Given the description of an element on the screen output the (x, y) to click on. 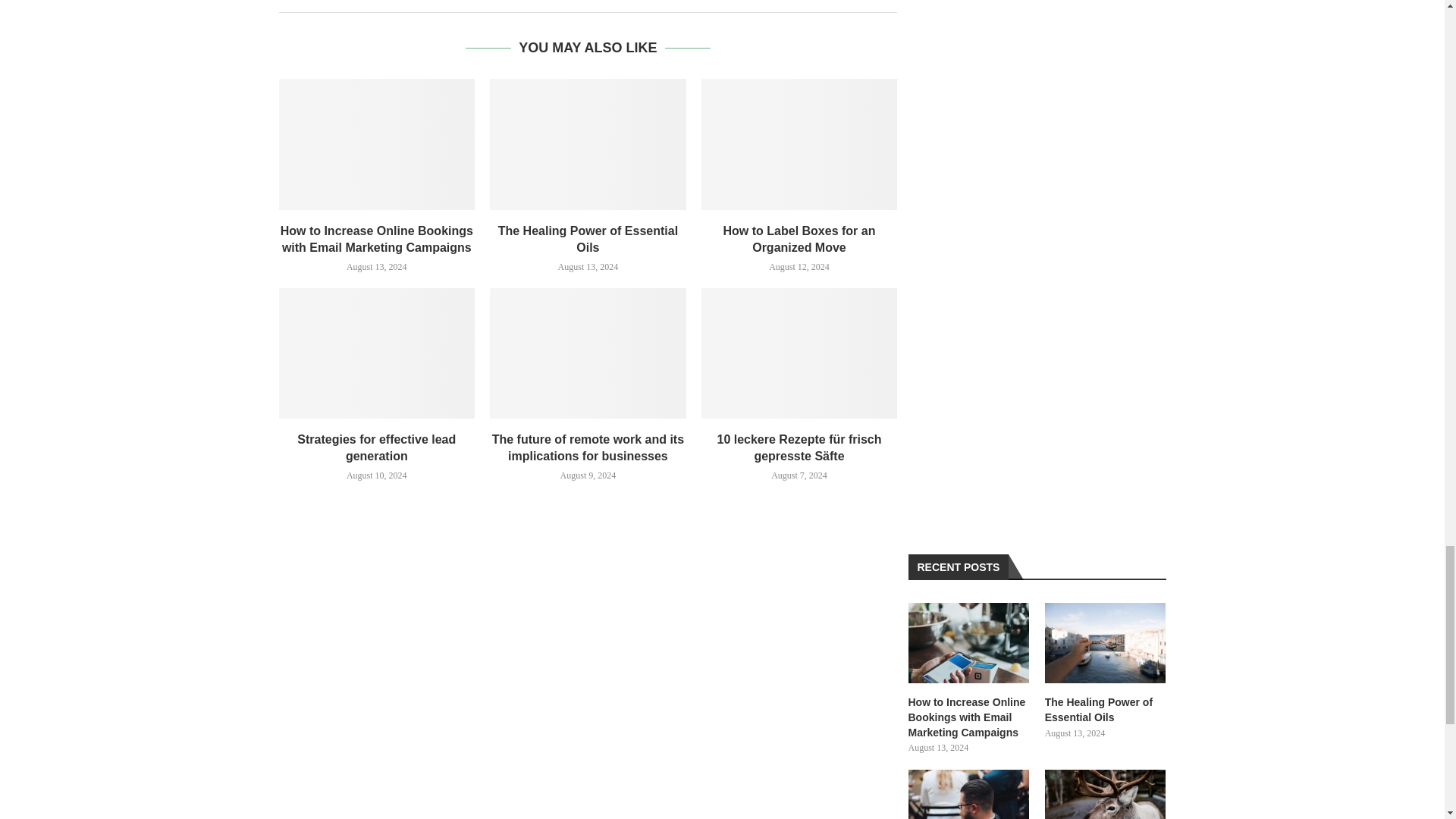
Strategies for effective lead generation (377, 353)
The Healing Power of Essential Oils (587, 143)
How to Label Boxes for an Organized Move (799, 143)
The Healing Power of Essential Oils (1105, 709)
The Healing Power of Essential Oils (1105, 642)
